Given the description of an element on the screen output the (x, y) to click on. 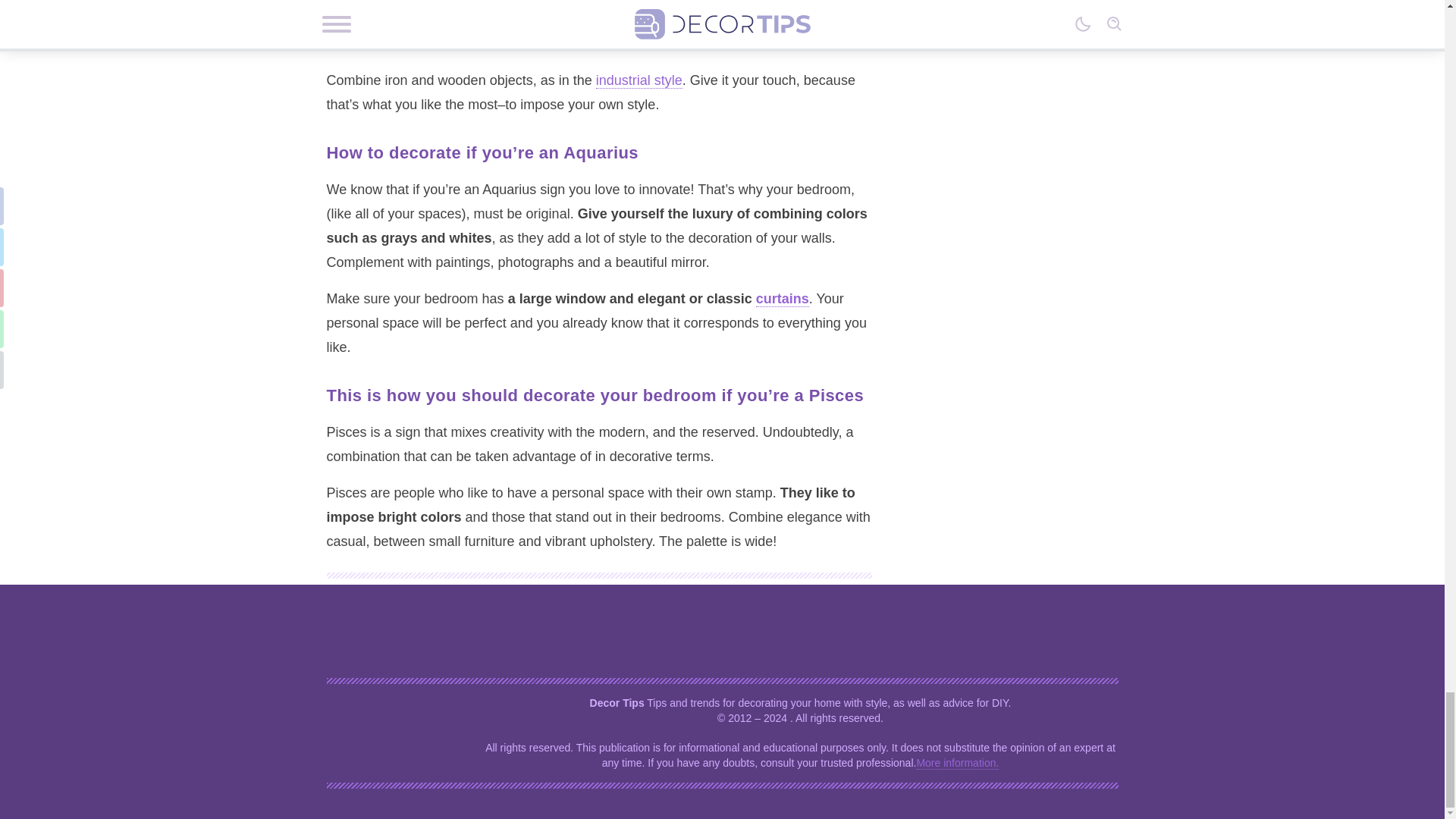
More information. (956, 762)
industrial style (638, 80)
curtains (782, 299)
